Given the description of an element on the screen output the (x, y) to click on. 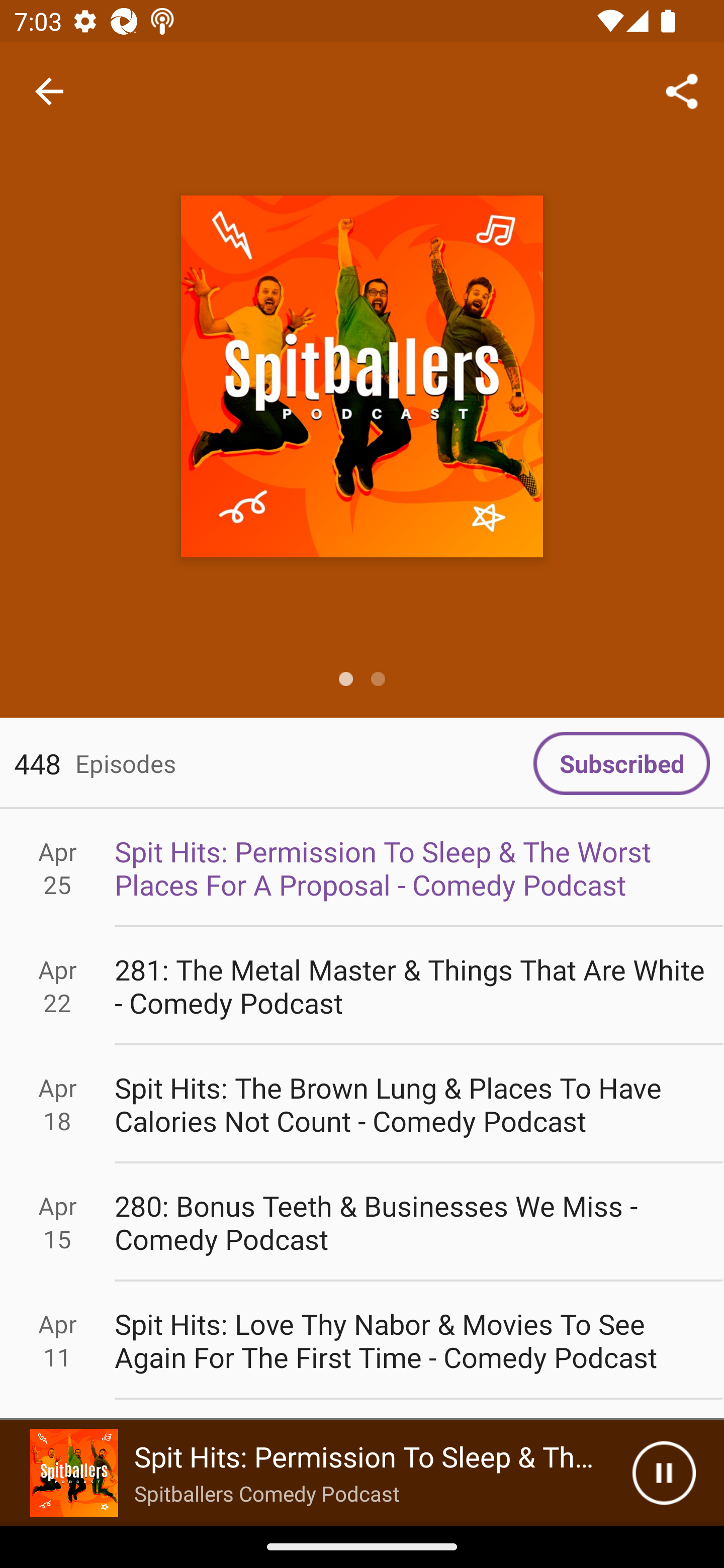
Navigate up (49, 91)
Share... (681, 90)
Subscribed (621, 763)
Pause (663, 1472)
